Given the description of an element on the screen output the (x, y) to click on. 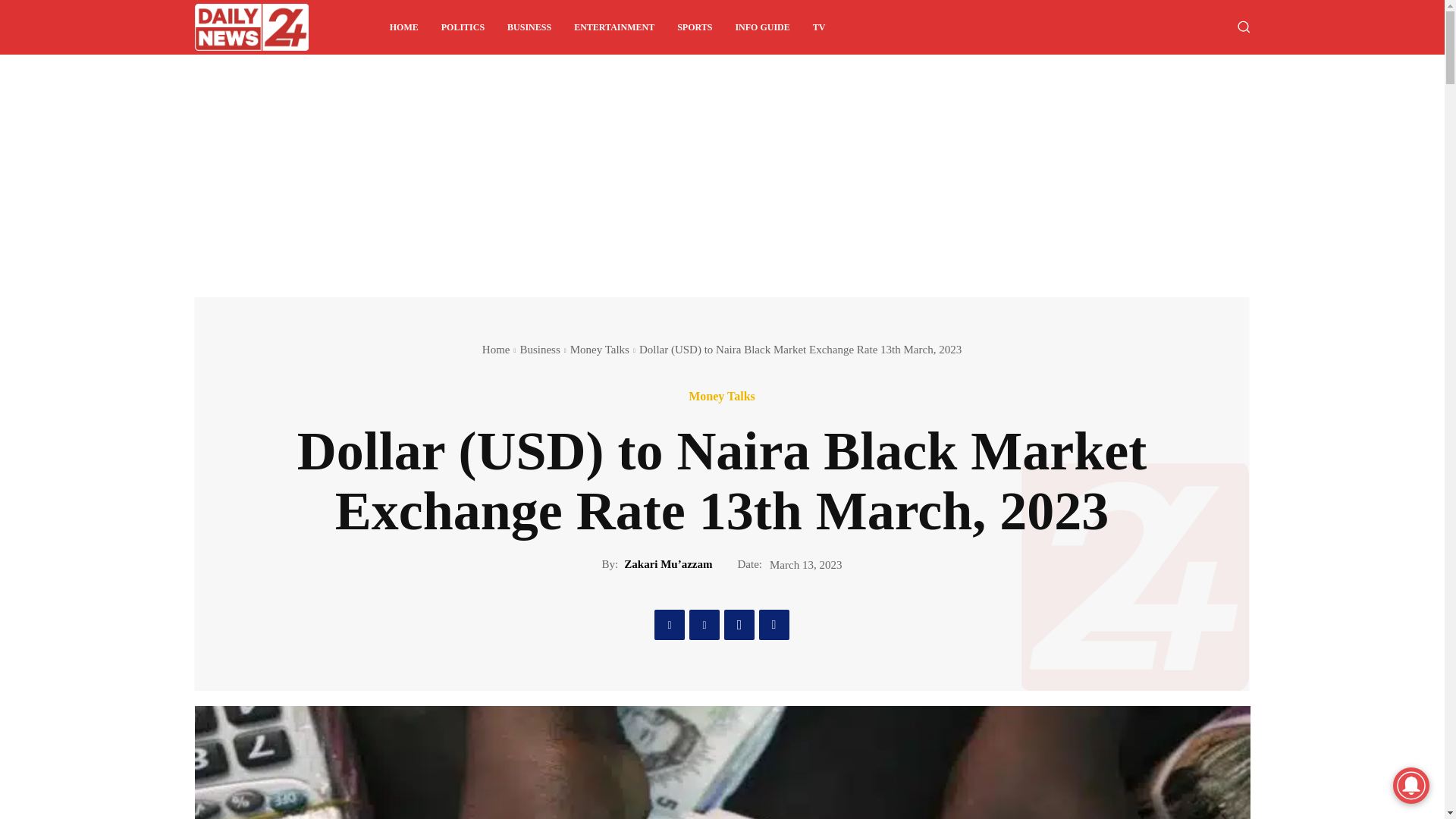
Business (539, 349)
Twitter (703, 624)
View all posts in Business (539, 349)
BUSINESS (529, 26)
INFO GUIDE (761, 26)
View all posts in Money Talks (599, 349)
ENTERTAINMENT (613, 26)
Money Talks (721, 396)
Facebook (668, 624)
